Given the description of an element on the screen output the (x, y) to click on. 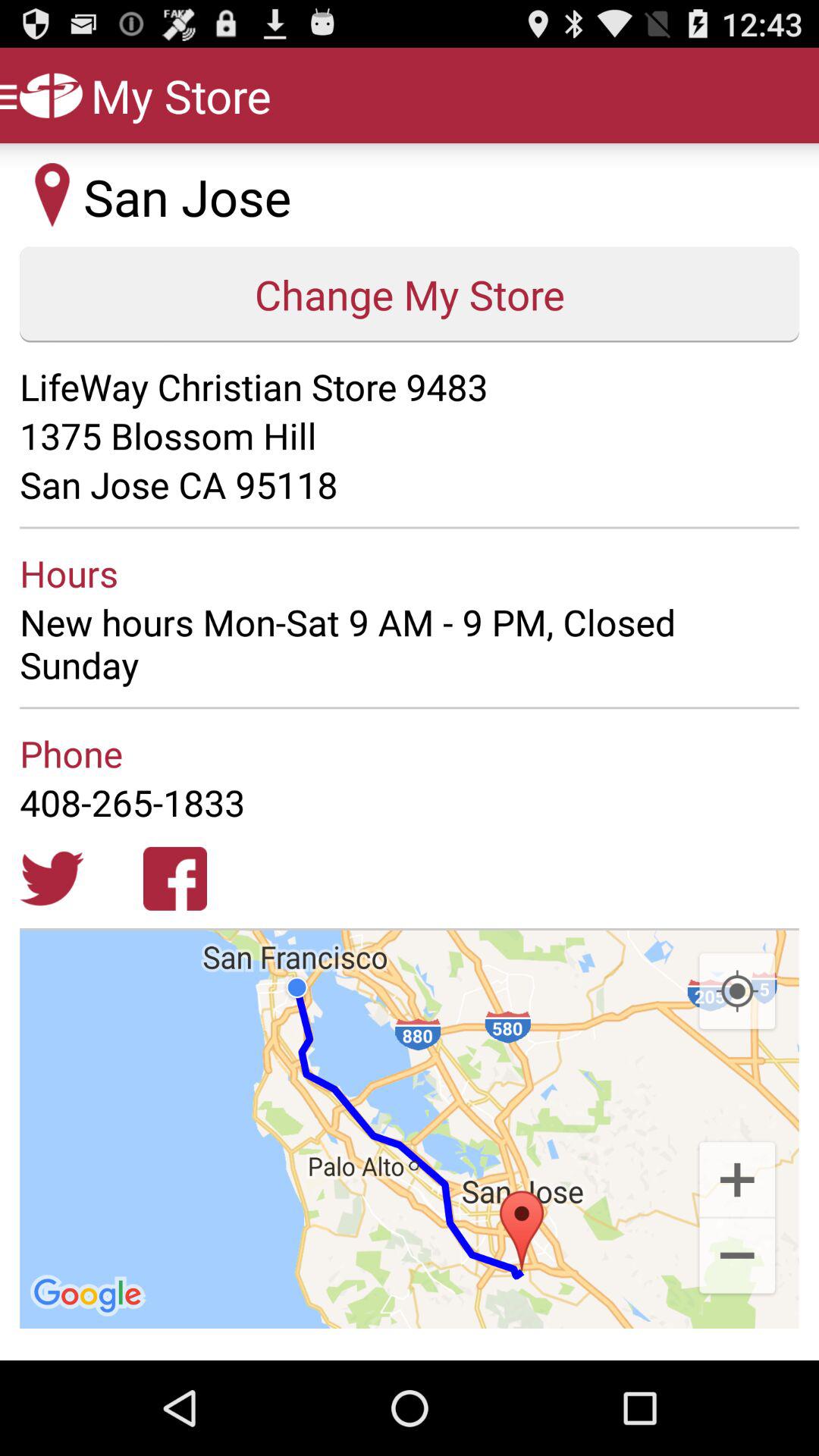
click app below 408-265-1833 item (51, 878)
